Given the description of an element on the screen output the (x, y) to click on. 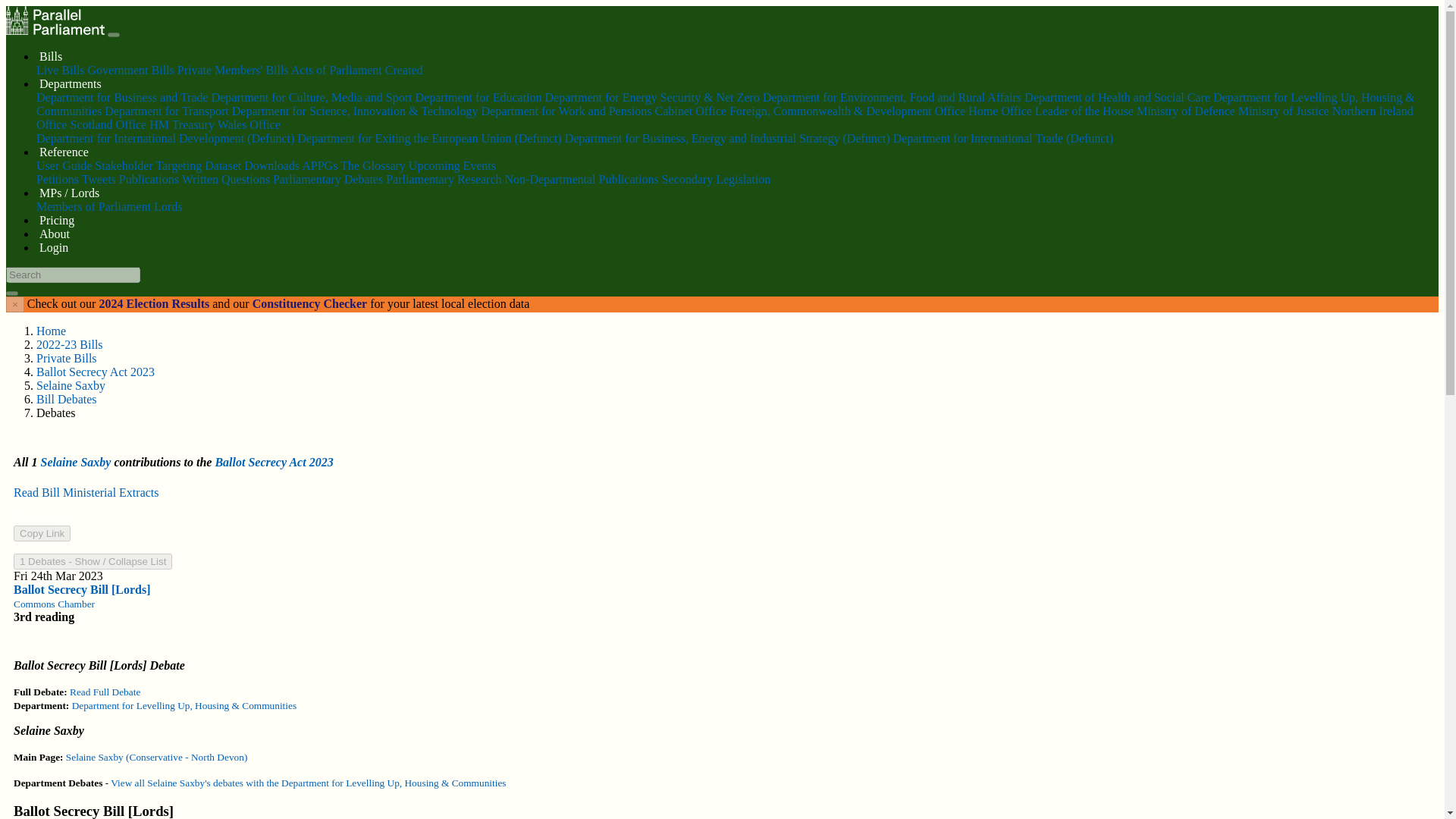
Ministry of Justice (1284, 110)
HM Treasury (181, 124)
The Glossary (373, 164)
Private Members' Bills (232, 69)
Department for Culture, Media and Sport (311, 97)
Department for Business and Trade (122, 97)
User Guide (63, 164)
Reference (63, 151)
Petitions (57, 178)
Northern Ireland Office (724, 117)
Leader of the House (1084, 110)
Department for Environment, Food and Rural Affairs (892, 97)
Acts of Parliament Created (357, 69)
Cabinet Office (690, 110)
Stakeholder Targeting (148, 164)
